Given the description of an element on the screen output the (x, y) to click on. 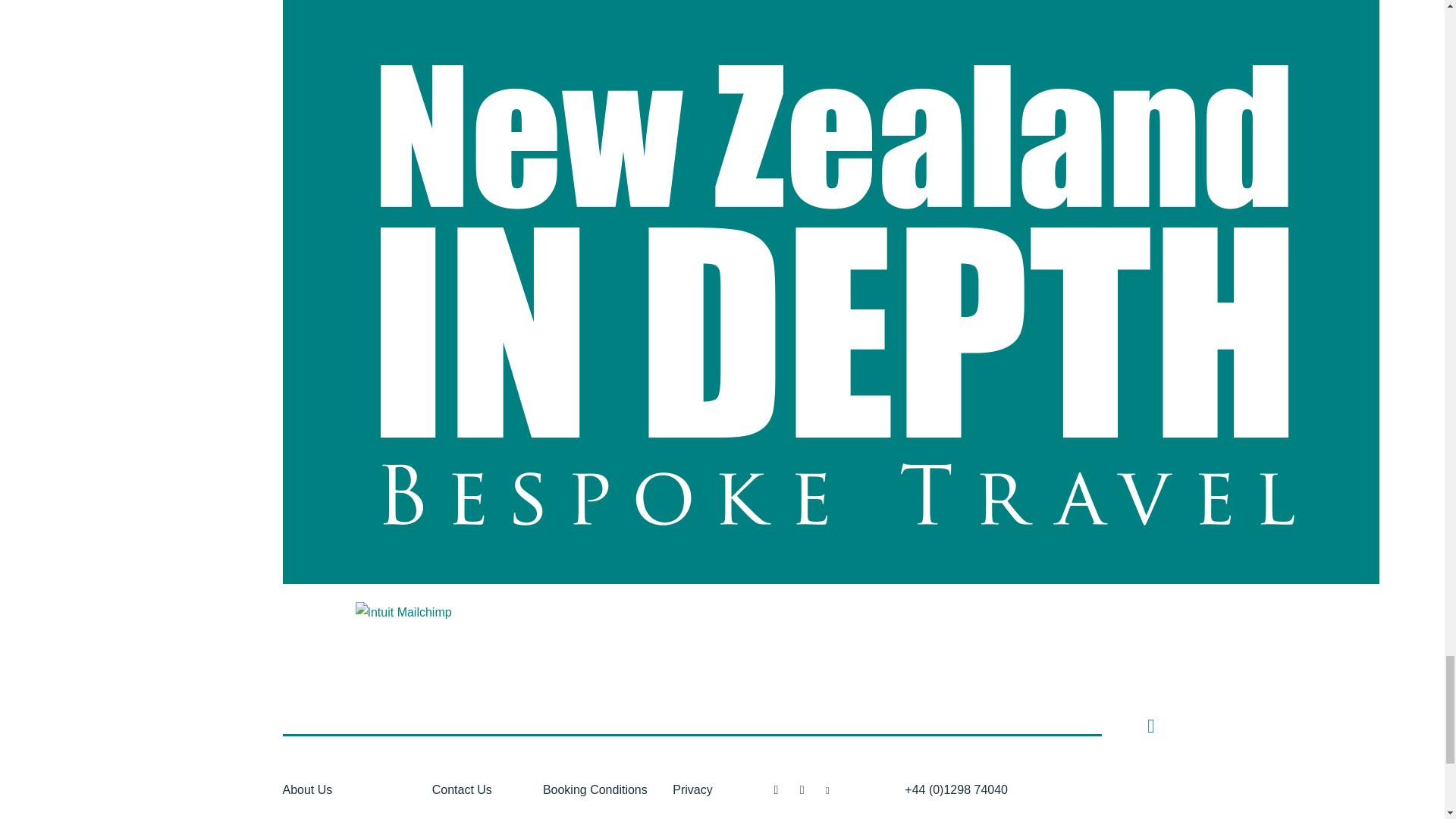
Subscribe (722, 543)
Mailchimp - email marketing made easy and fun (438, 612)
